Given the description of an element on the screen output the (x, y) to click on. 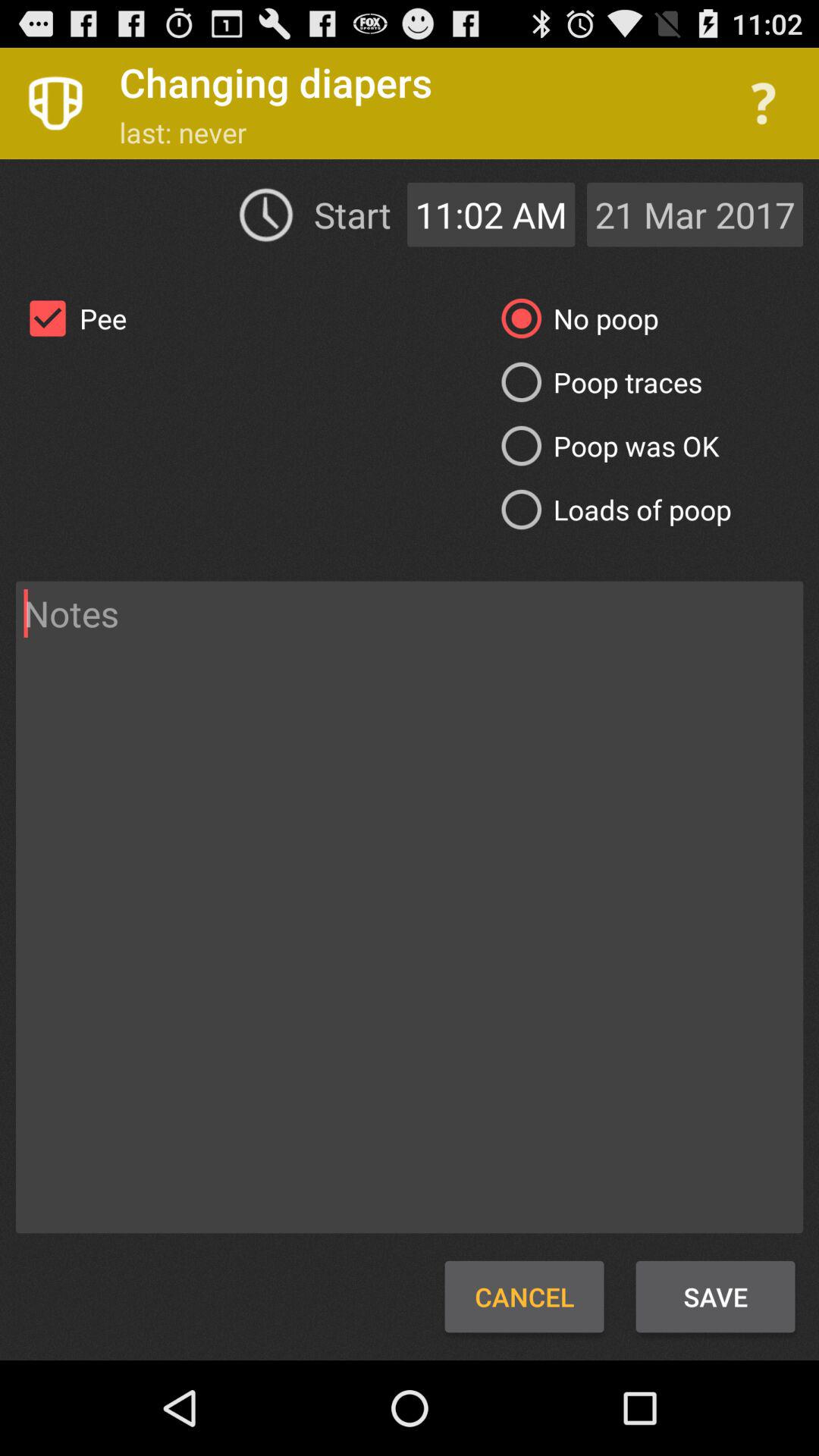
choose the item to the right of pee item (595, 382)
